Given the description of an element on the screen output the (x, y) to click on. 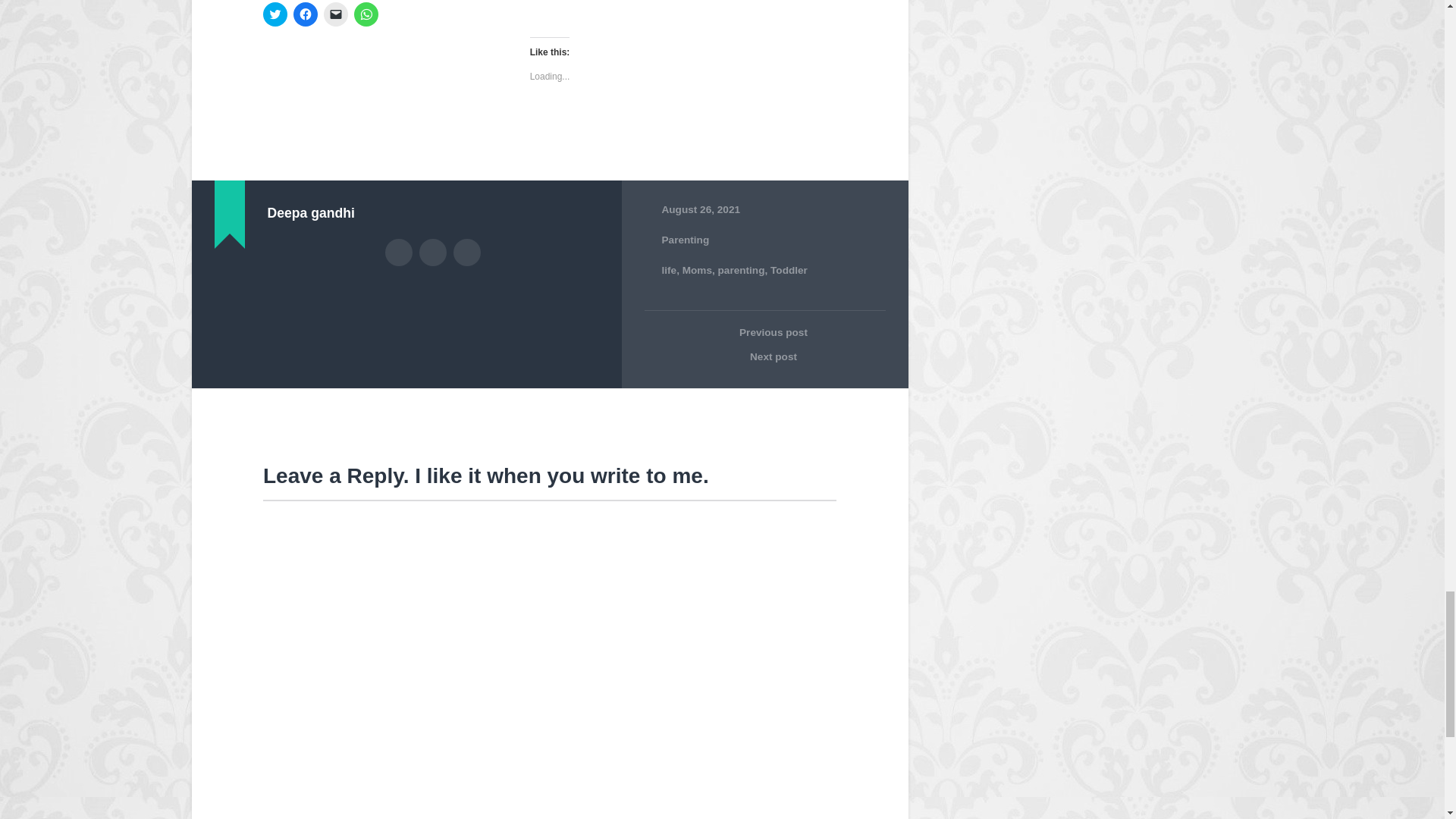
Click to email a link to a friend (335, 14)
Author archive (398, 252)
Click to share on WhatsApp (365, 14)
Click to share on Twitter (274, 14)
Click to share on Facebook (305, 14)
Author website (432, 252)
